Given the description of an element on the screen output the (x, y) to click on. 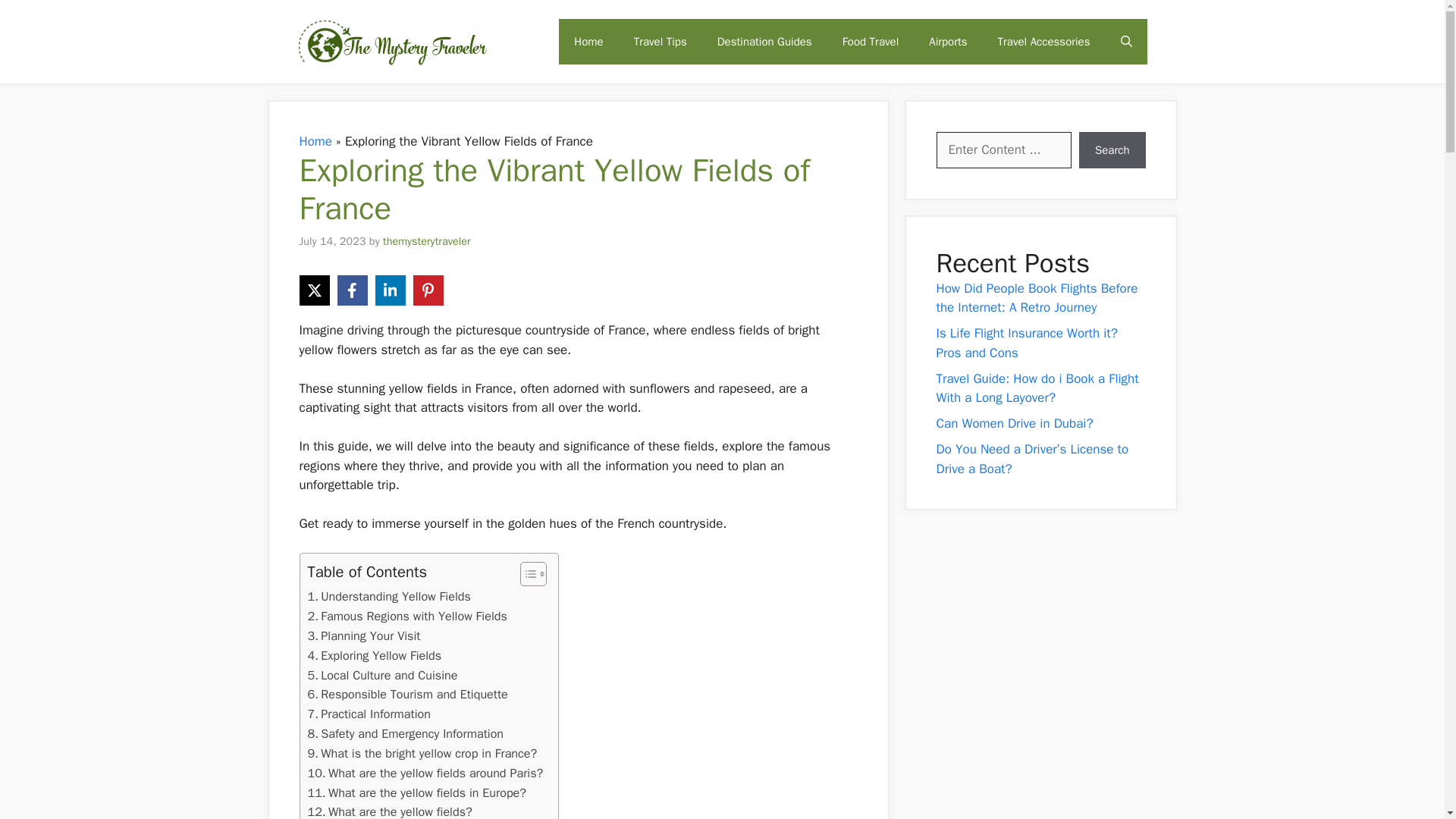
Safety and Emergency Information (405, 733)
Travel Tips (659, 41)
Planning Your Visit (363, 636)
Exploring Yellow Fields (374, 655)
Famous Regions with Yellow Fields (406, 616)
Safety and Emergency Information (405, 733)
Planning Your Visit (363, 636)
themysterytraveler (426, 240)
Practical Information (368, 713)
Responsible Tourism and Etiquette (407, 694)
